Given the description of an element on the screen output the (x, y) to click on. 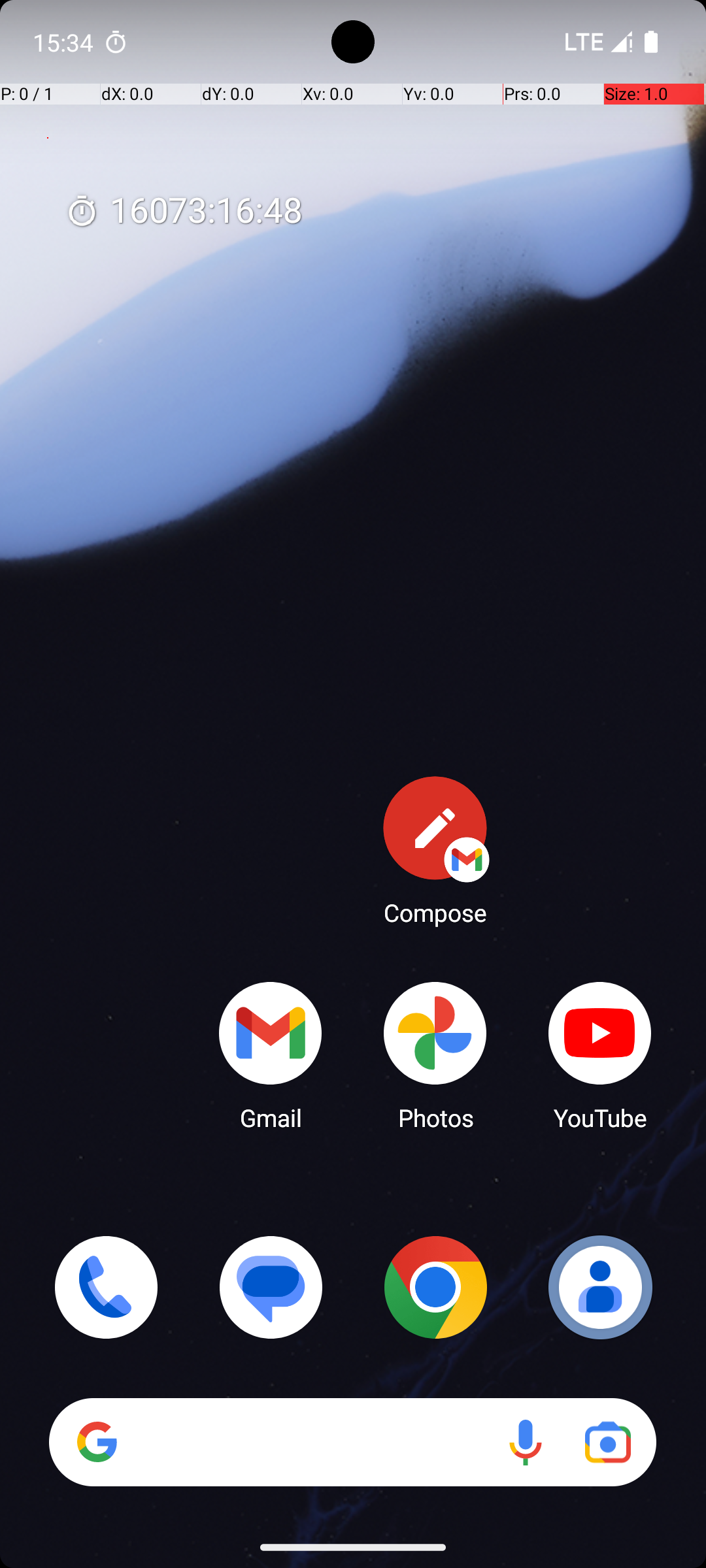
16073:16:48 Element type: android.widget.TextView (183, 210)
